Given the description of an element on the screen output the (x, y) to click on. 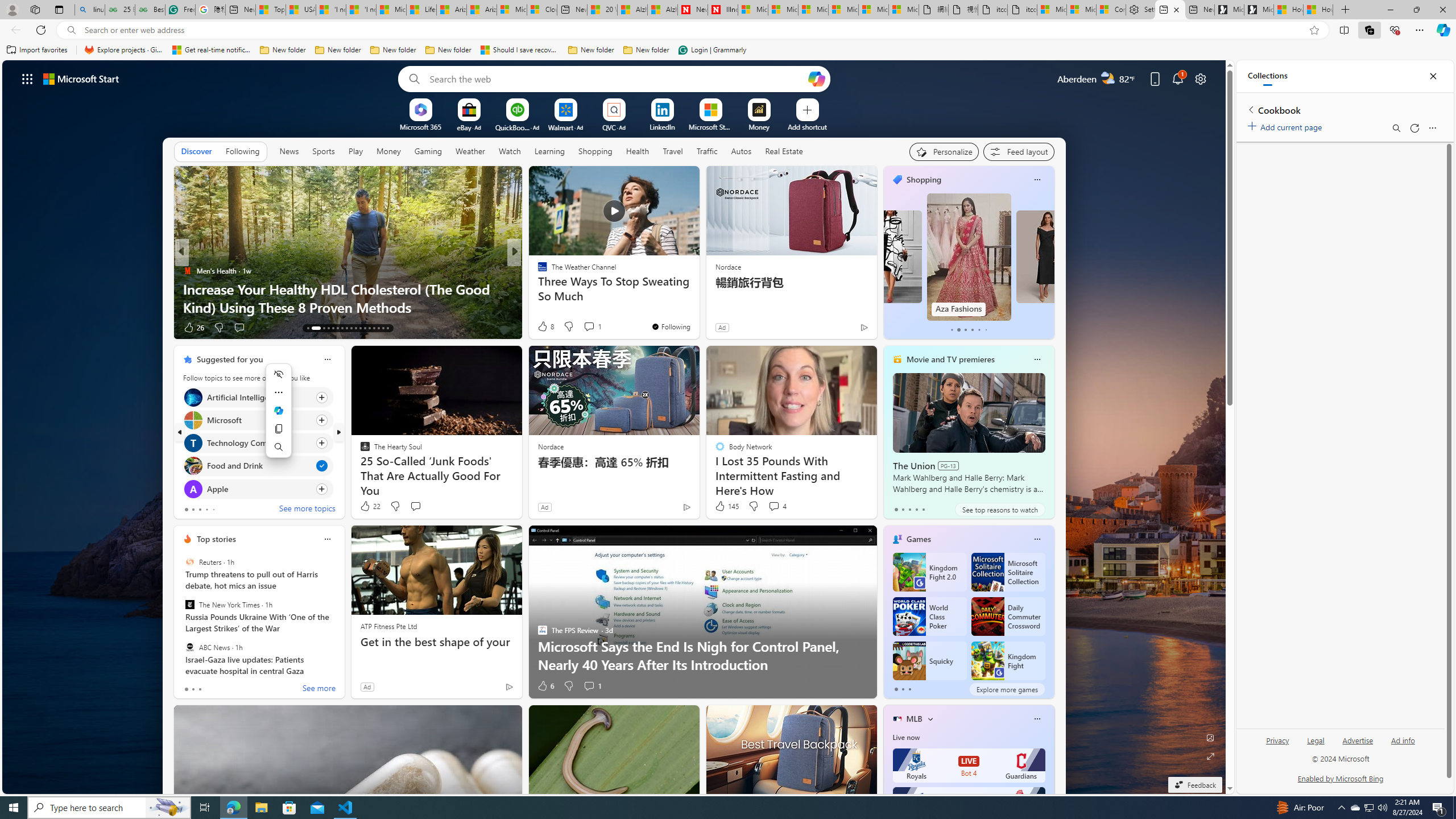
145 Like (726, 505)
68 Like (543, 327)
View comments 12 Comment (592, 327)
USA TODAY - MSN (300, 9)
tab-2 (908, 689)
Real Estate (783, 151)
Hide menu (278, 374)
Add current page (1286, 124)
View comments 2 Comment (585, 327)
26 Like (192, 327)
Click to unfollow topic Food and Drink (257, 465)
AutomationID: tab-15 (323, 328)
